Given the description of an element on the screen output the (x, y) to click on. 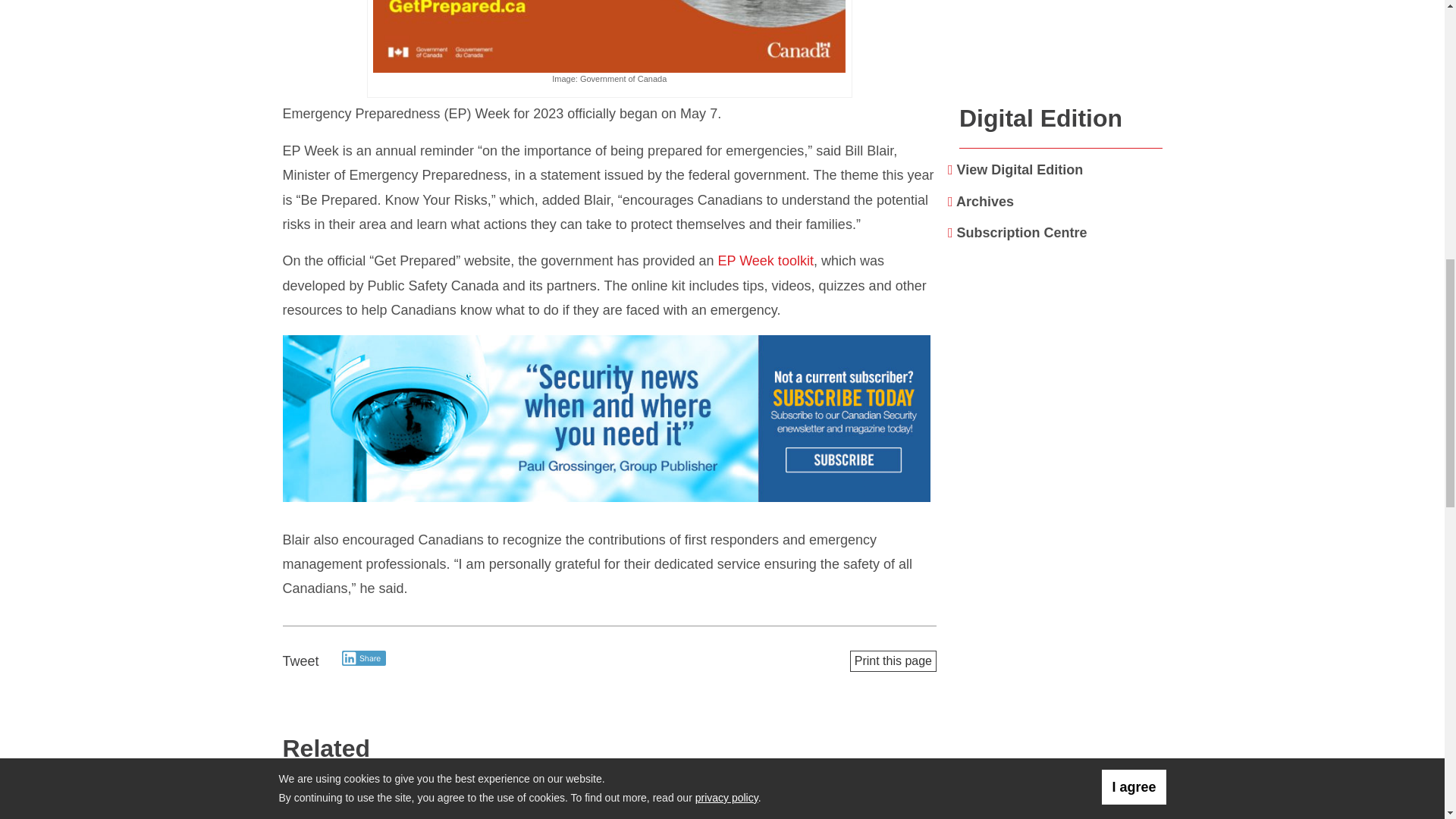
3rd party ad content (1060, 750)
3rd party ad content (1061, 44)
3rd party ad content (609, 419)
3rd party ad content (1060, 381)
3rd party ad content (1060, 579)
